Given the description of an element on the screen output the (x, y) to click on. 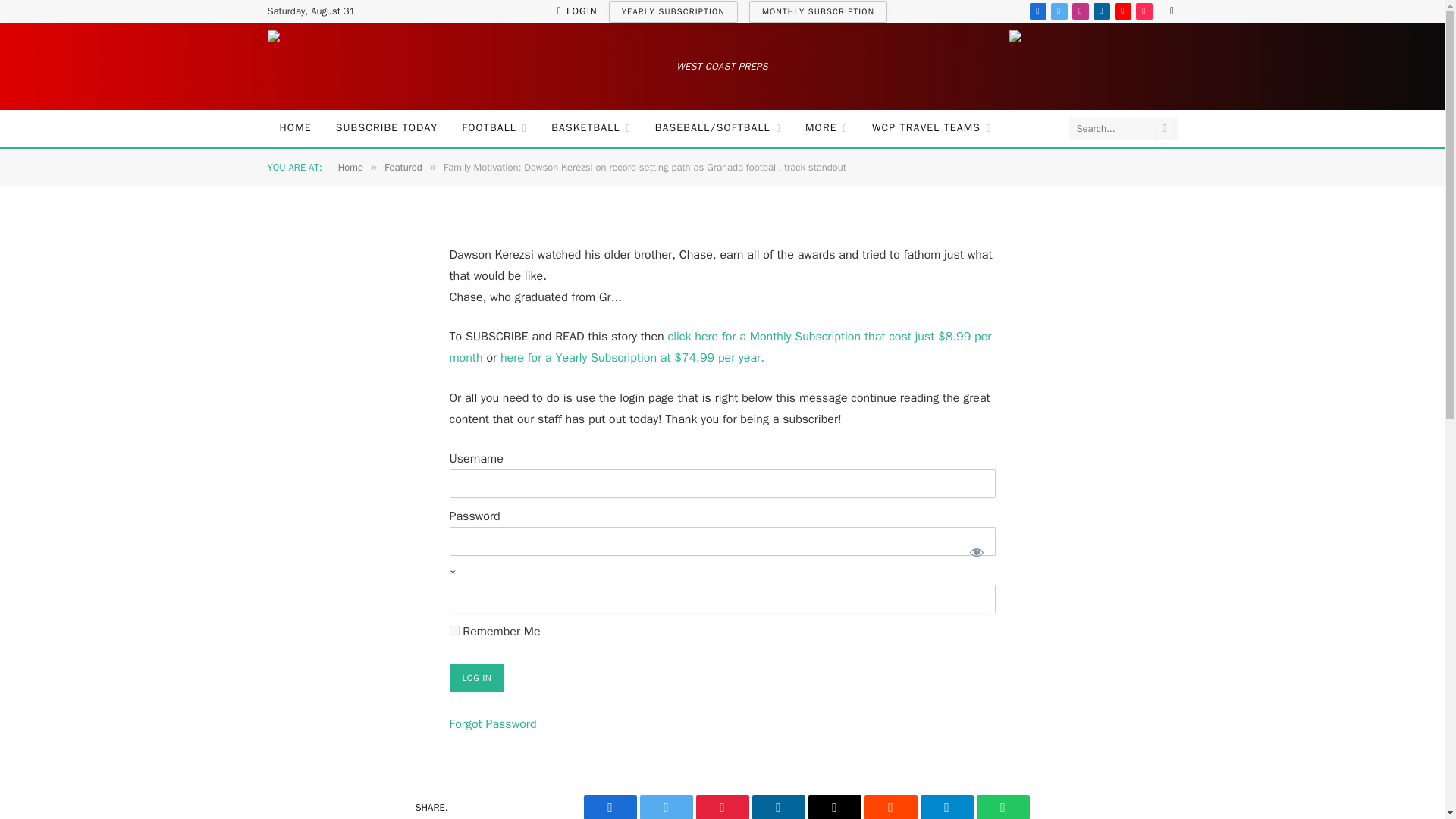
West Coast Preps (350, 65)
forever (453, 630)
West Coast Preps (1092, 65)
YouTube (1123, 11)
LOGIN (576, 11)
Log In (475, 677)
LinkedIn (1101, 11)
Switch to Dark Design - easier on eyes. (1169, 10)
Facebook (1037, 11)
MONTHLY SUBSCRIPTION (817, 11)
